Given the description of an element on the screen output the (x, y) to click on. 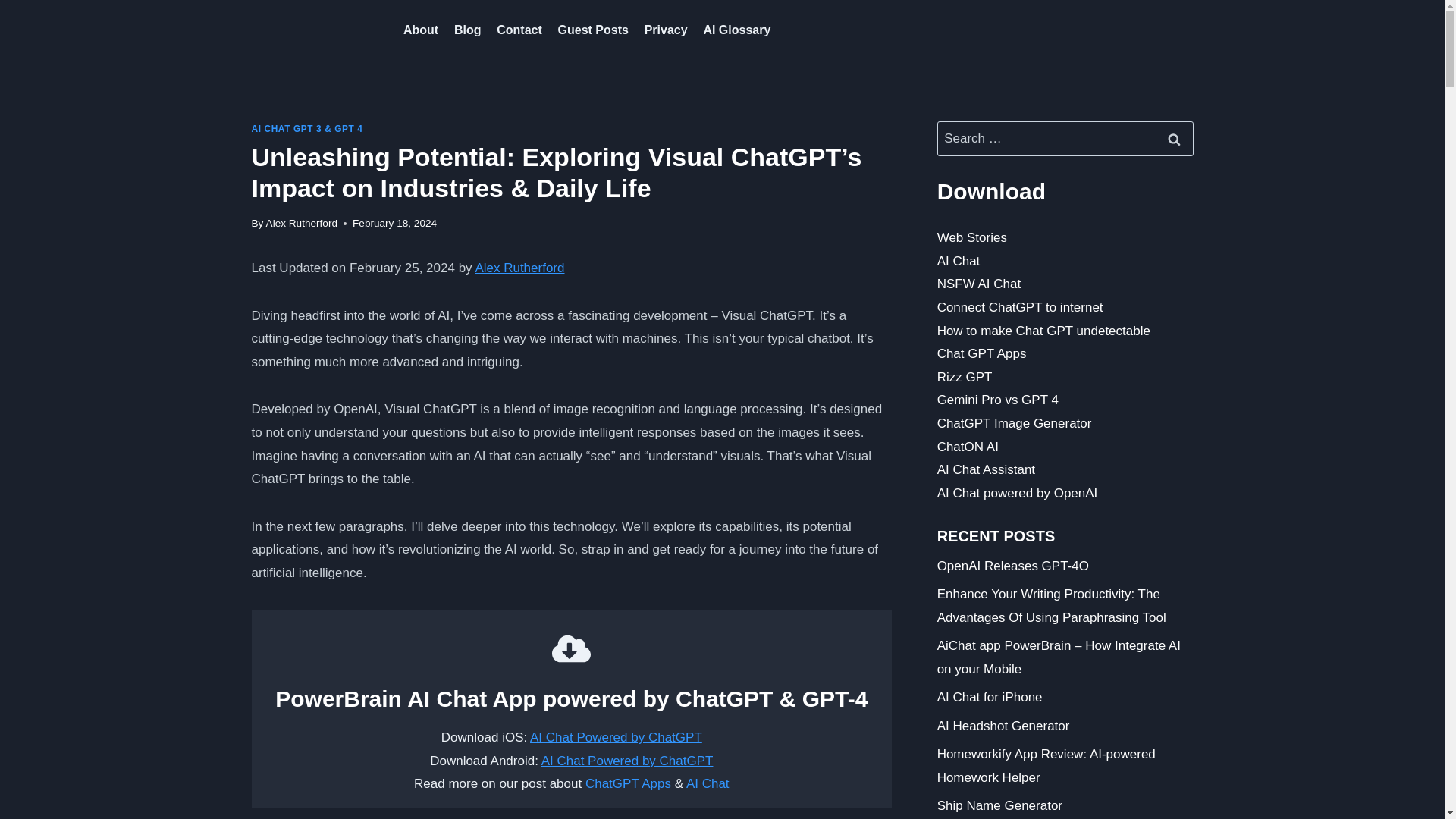
Blog (466, 29)
Alex Rutherford (301, 223)
AI Glossary (736, 29)
Search (1174, 138)
AI Chat (707, 783)
Privacy (665, 29)
ChatGPT Apps (628, 783)
Search (1174, 138)
AI Chat Powered by ChatGPT (627, 760)
Contact (519, 29)
About (421, 29)
Guest Posts (593, 29)
Alex Rutherford (519, 268)
AI Chat Powered by ChatGPT (615, 737)
